Given the description of an element on the screen output the (x, y) to click on. 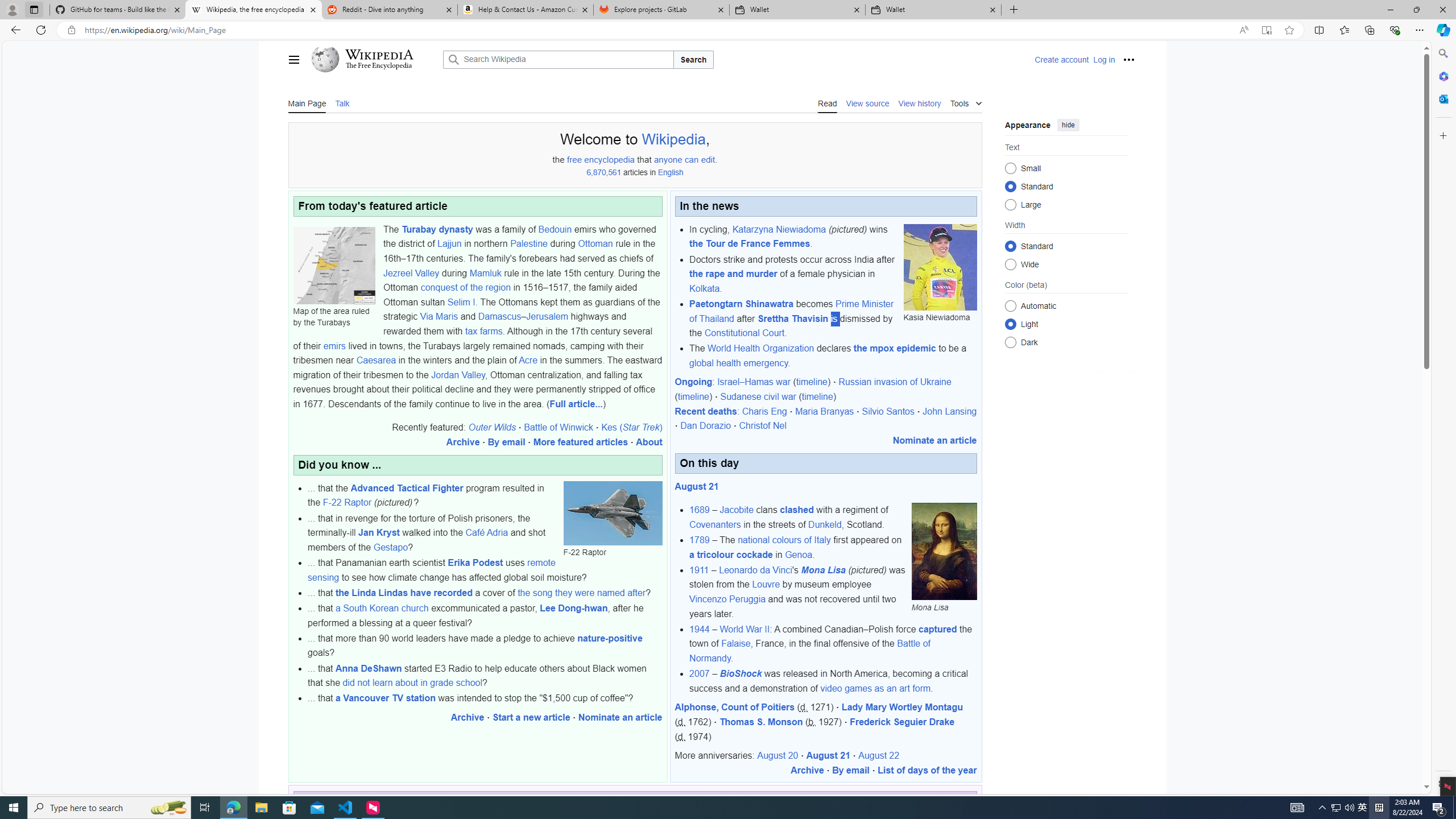
Dunkeld (824, 524)
Constitutional Court (744, 333)
Srettha Thavisin (792, 318)
About (649, 442)
Jerusalem (547, 316)
Wikipedia The Free Encyclopedia (373, 59)
Wikipedia, the free encyclopedia (253, 9)
BioShock (740, 673)
Tools (965, 101)
